Given the description of an element on the screen output the (x, y) to click on. 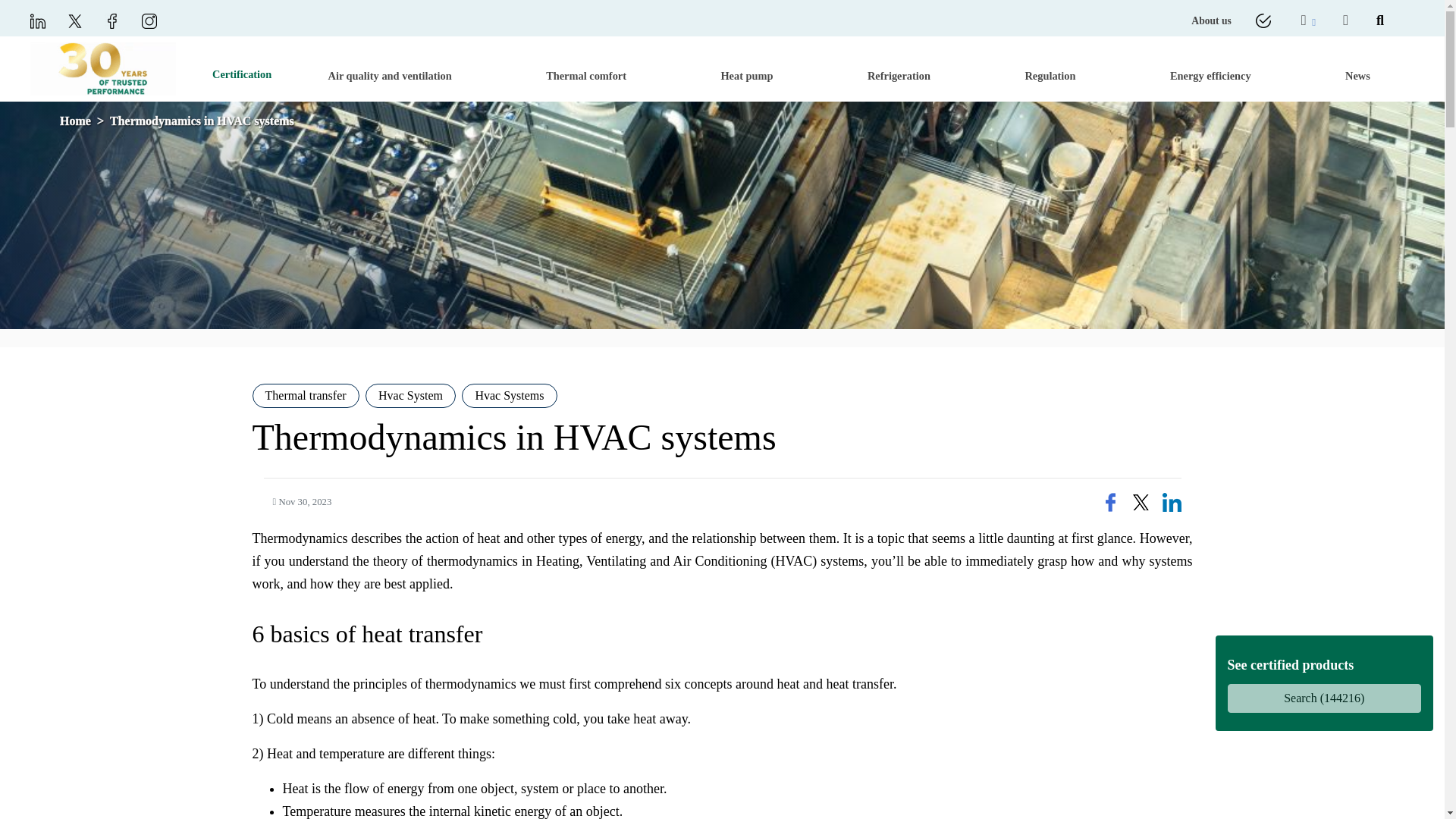
Energy efficiency (1210, 71)
Refrigeration (898, 71)
News (1357, 71)
About us (1211, 21)
Certification (242, 74)
Heat pump (746, 71)
Air quality and ventilation (389, 71)
Regulation (1050, 71)
Thermal comfort (585, 71)
